Given the description of an element on the screen output the (x, y) to click on. 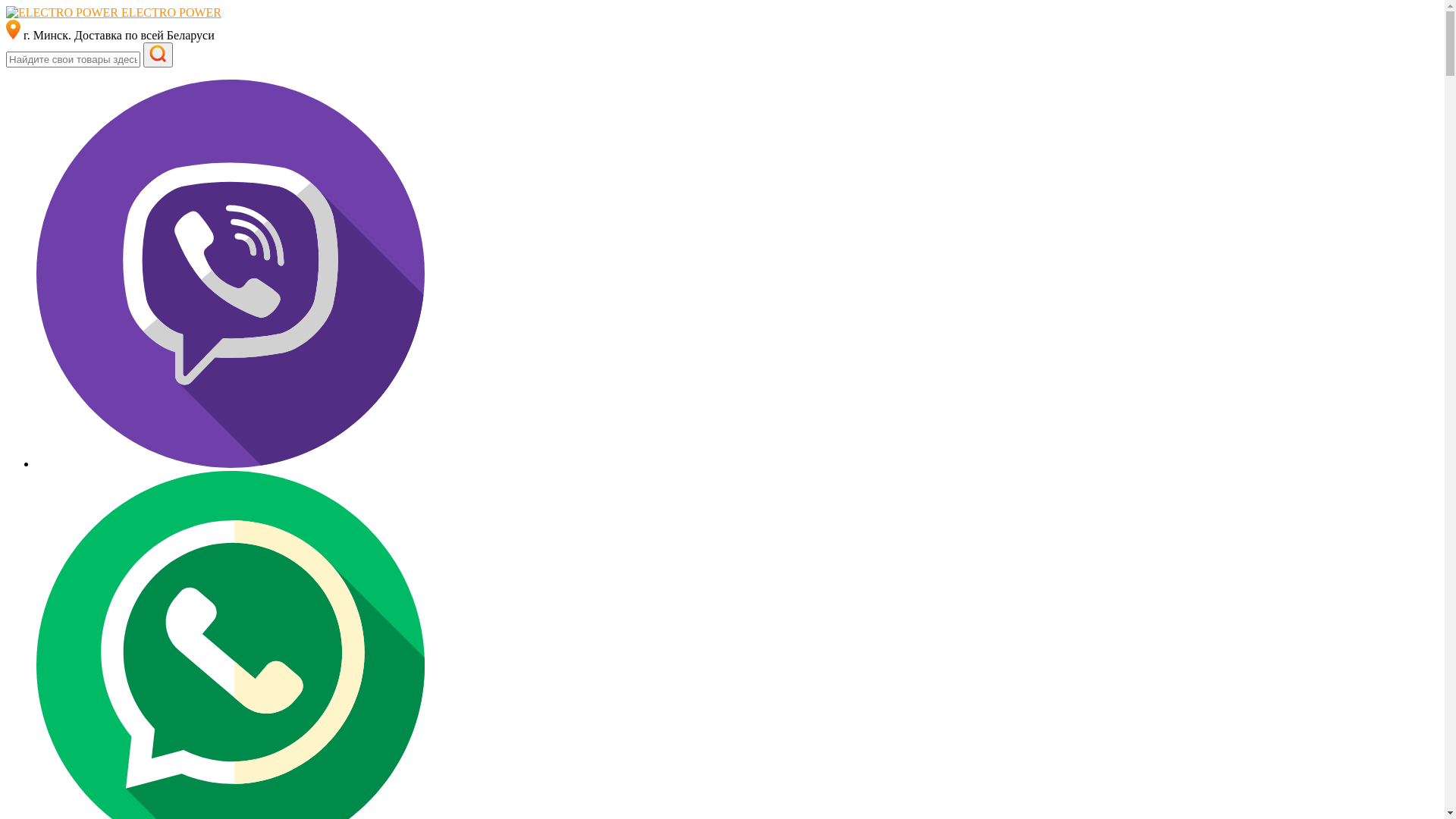
ELECTRO POWER Element type: text (113, 12)
